Given the description of an element on the screen output the (x, y) to click on. 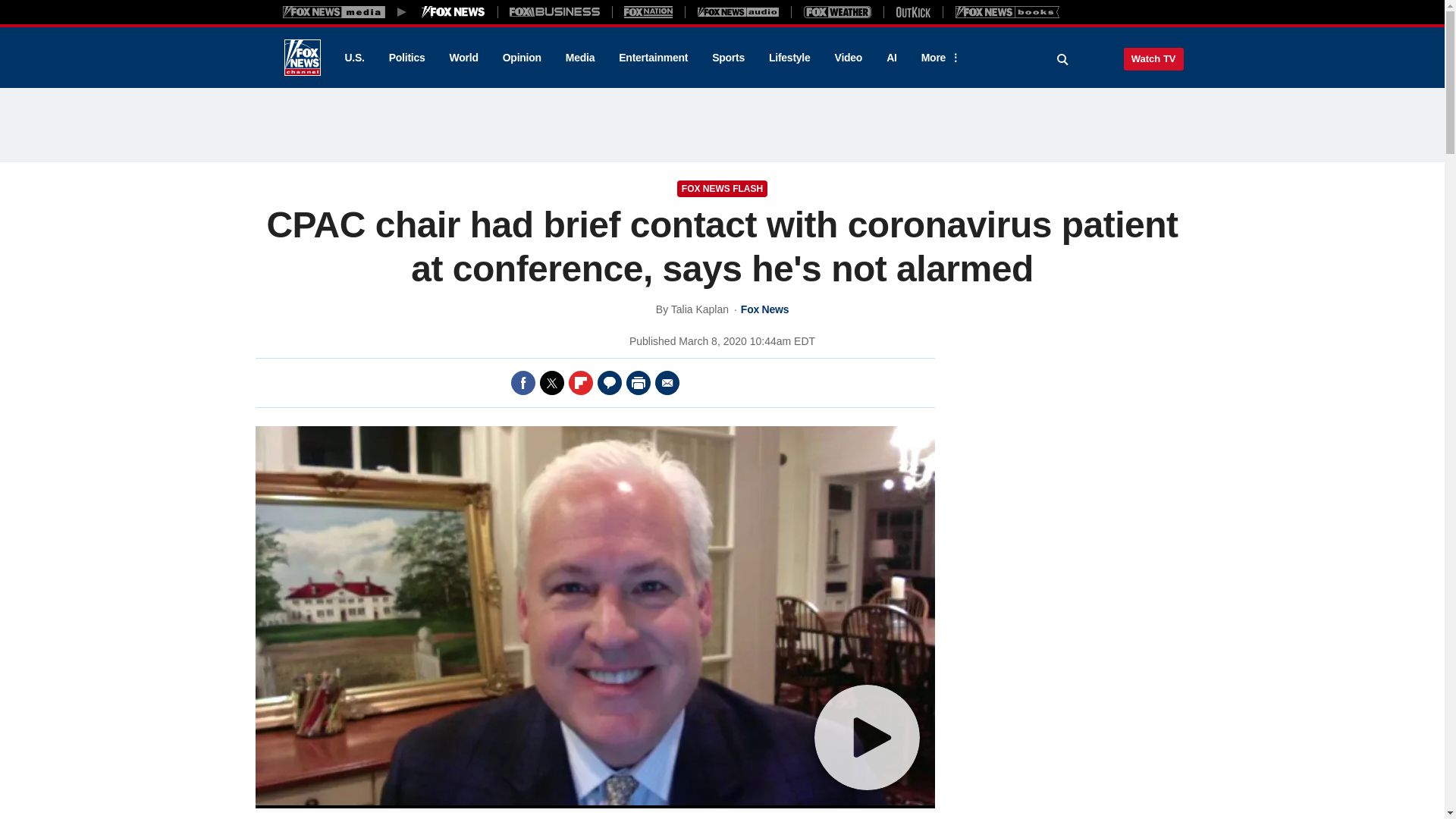
Fox News Media (453, 11)
Watch TV (1153, 58)
Fox Weather (836, 11)
Fox News Audio (737, 11)
AI (891, 57)
Fox News (301, 57)
Books (1007, 11)
Outkick (912, 11)
Fox Business (554, 11)
Media (580, 57)
More (938, 57)
U.S. (353, 57)
Fox Nation (648, 11)
Entertainment (653, 57)
Video (848, 57)
